Given the description of an element on the screen output the (x, y) to click on. 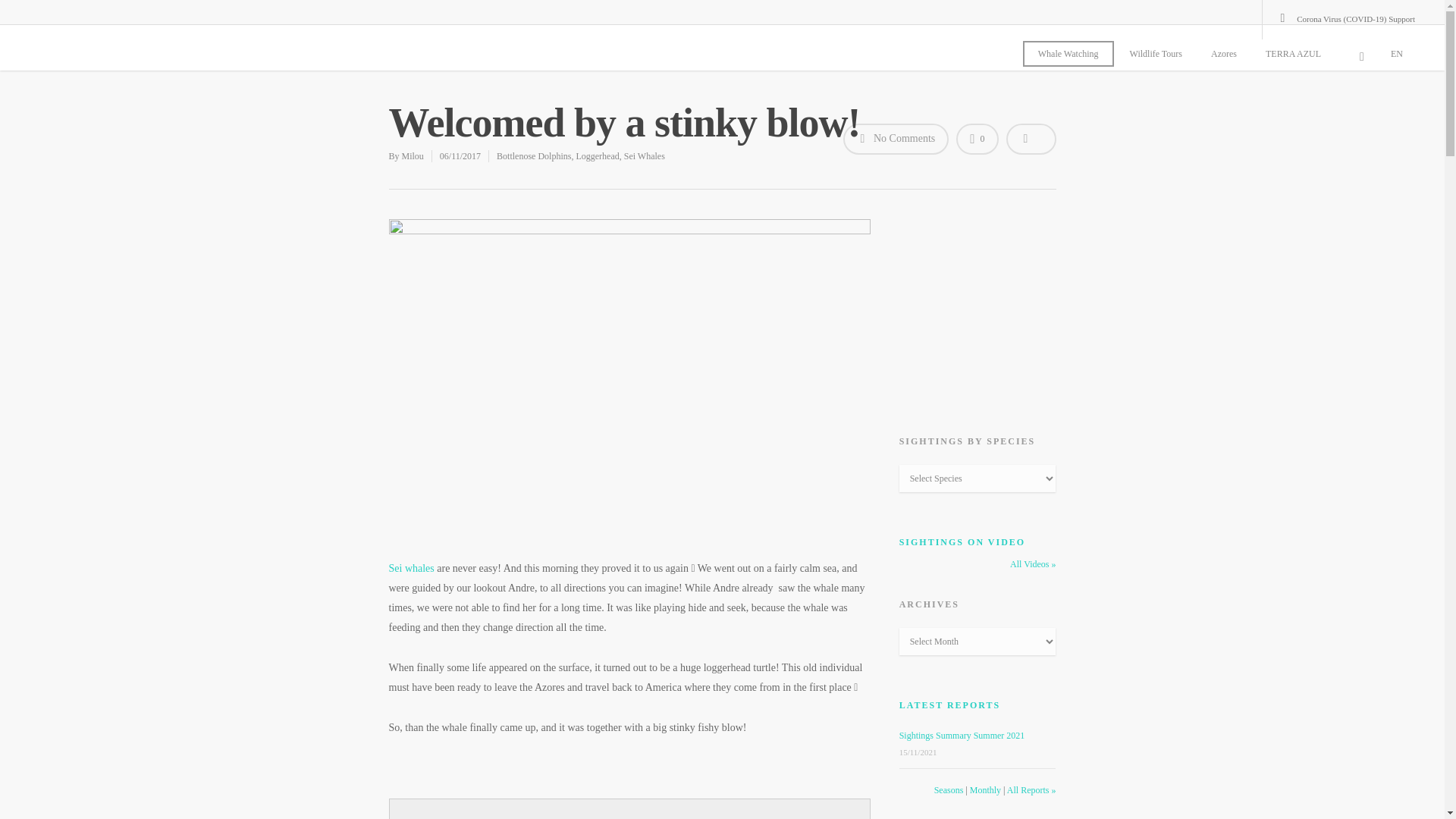
Latest Reports (950, 705)
Bottlenose Dolphins (533, 155)
Milou (412, 155)
Azores (1230, 53)
No Comments (896, 138)
Love this (976, 138)
Wildlife Tours (1162, 53)
Education (933, 818)
Loggerhead (596, 155)
Whale Watching (1068, 53)
Sei Whales (644, 155)
Posts by Milou (412, 155)
Permalink to Sightings Summary Summer 2021 (962, 735)
EN (1402, 53)
EN (1402, 53)
